Given the description of an element on the screen output the (x, y) to click on. 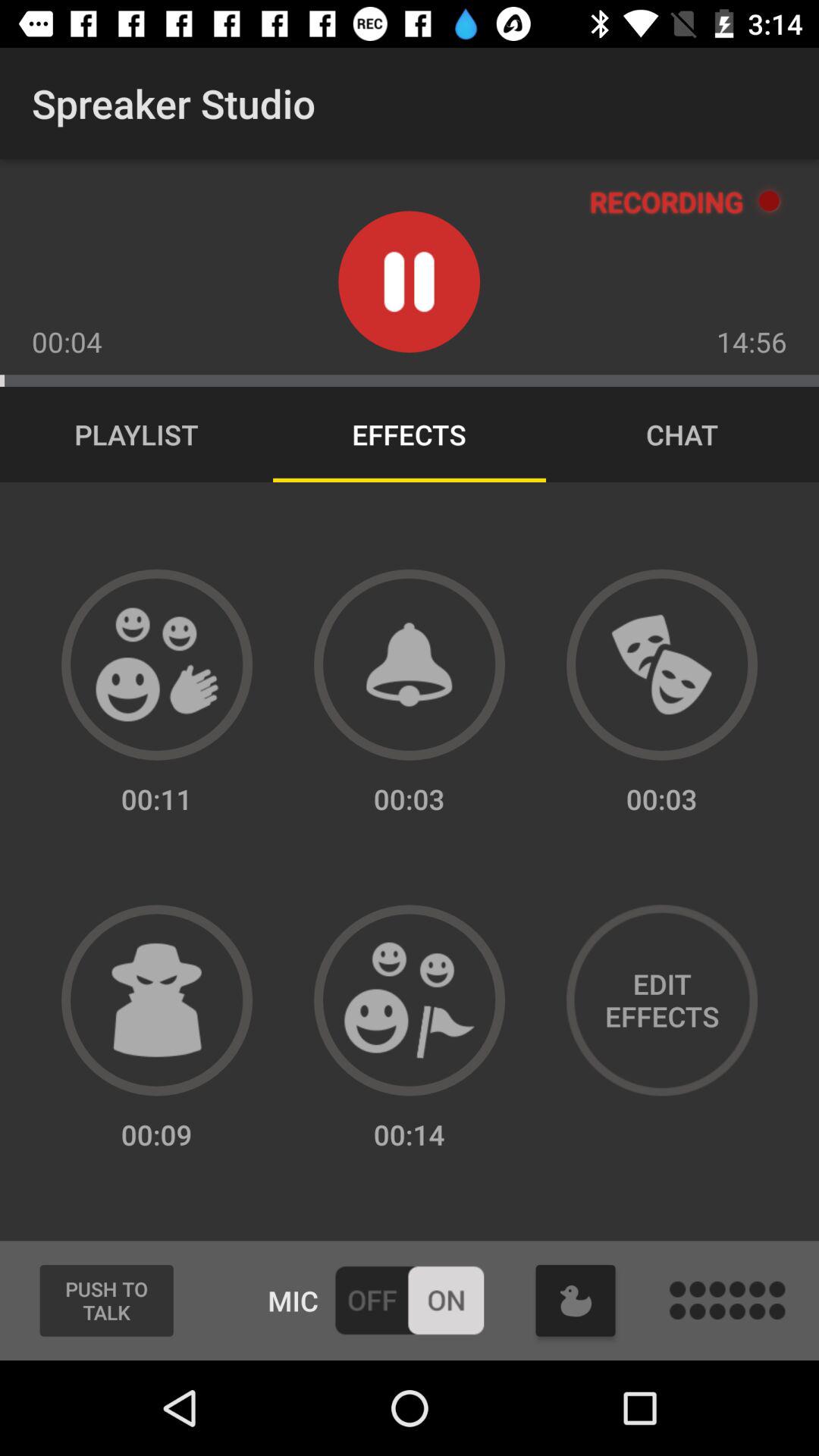
press push to
talk item (106, 1300)
